Given the description of an element on the screen output the (x, y) to click on. 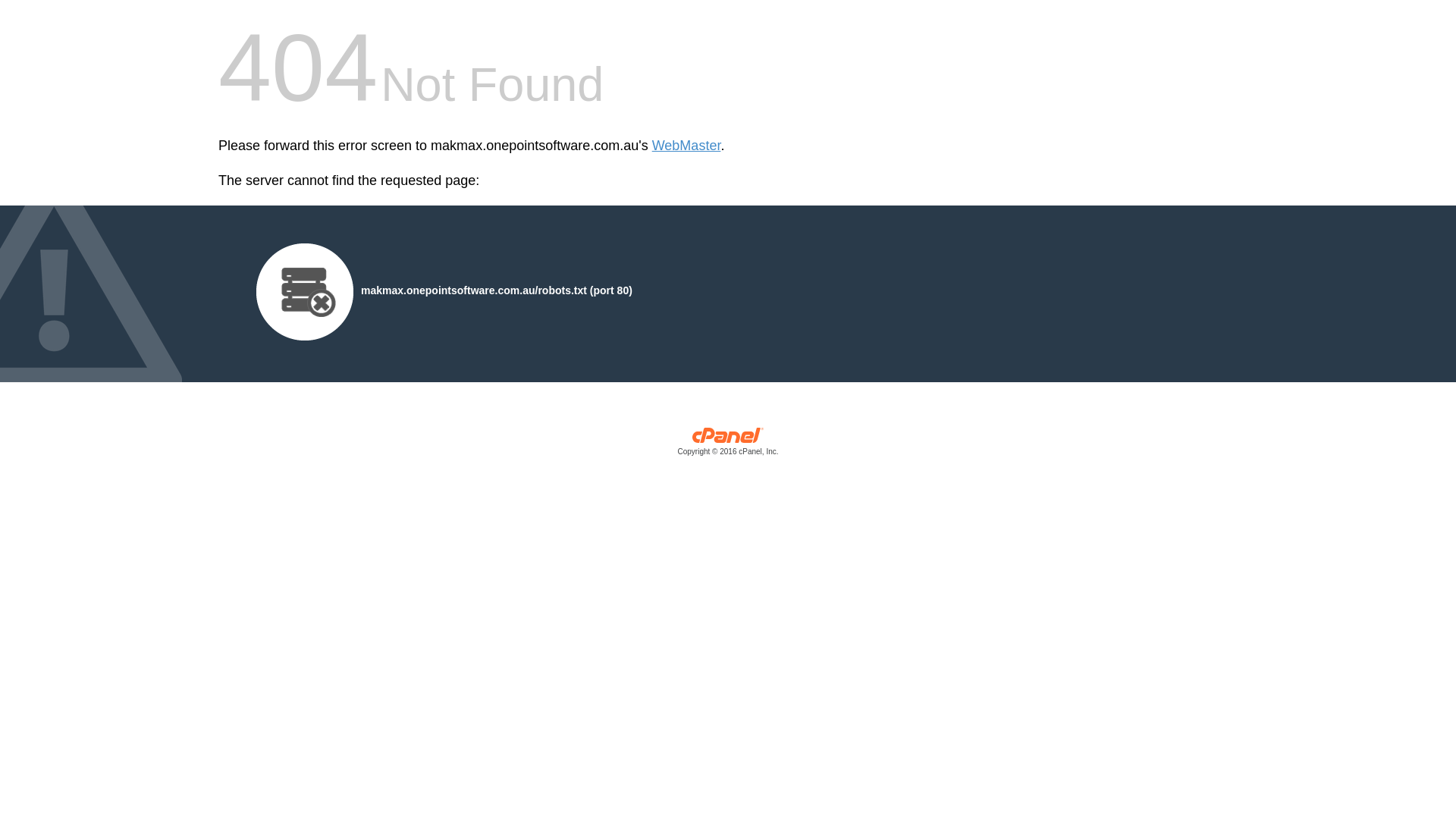
WebMaster Element type: text (686, 145)
